Given the description of an element on the screen output the (x, y) to click on. 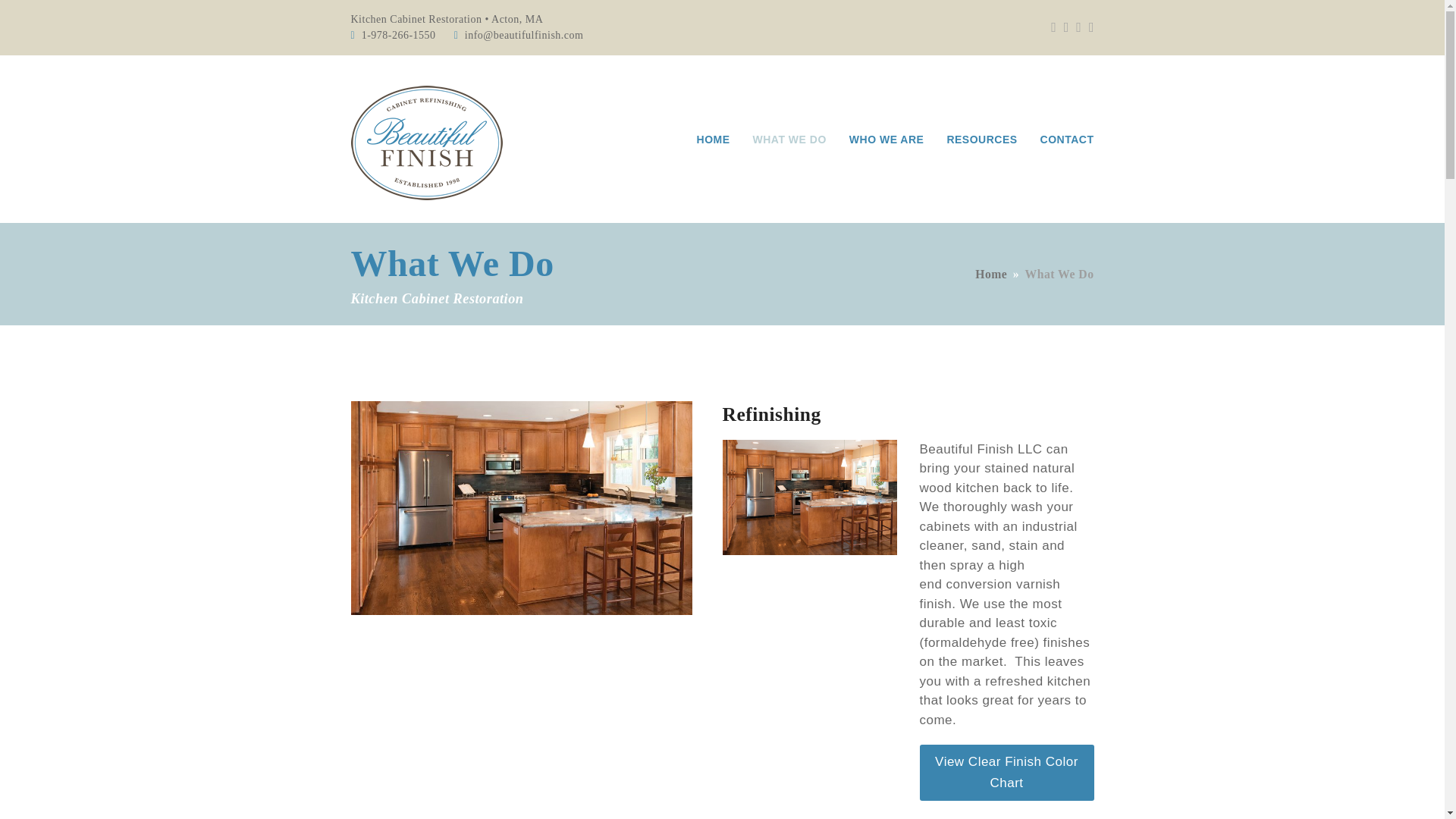
HOME (713, 138)
Refinishing (771, 414)
View Clear Finish Color Chart (1005, 772)
WHO WE ARE (887, 138)
Refinishing (521, 507)
Kitchen Cabinet Refinishing (809, 497)
Home (991, 273)
WHAT WE DO (789, 138)
RESOURCES (980, 138)
CONTACT (1067, 138)
